Given the description of an element on the screen output the (x, y) to click on. 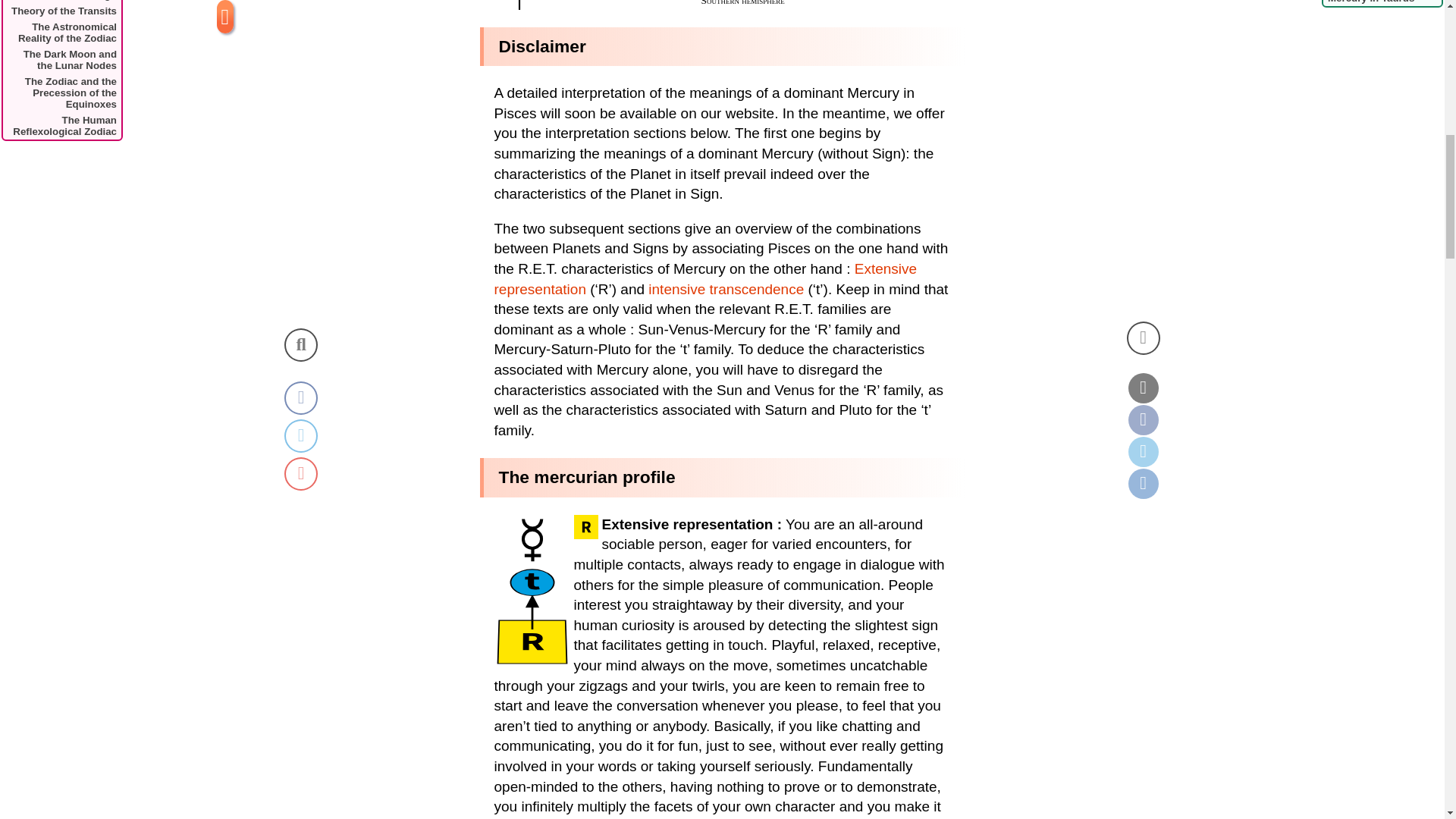
Theory of the Transits (61, 10)
Mercury in Pisces in the declination zodiac (721, 4)
The Zodiac and the Precession of the Equinoxes (61, 92)
Solar Sign and Rising Sign (61, 1)
The Human Reflexological Zodiac (61, 125)
The Astronomical Reality of the Zodiac (61, 31)
The Dark Moon and the Lunar Nodes (61, 59)
